Given the description of an element on the screen output the (x, y) to click on. 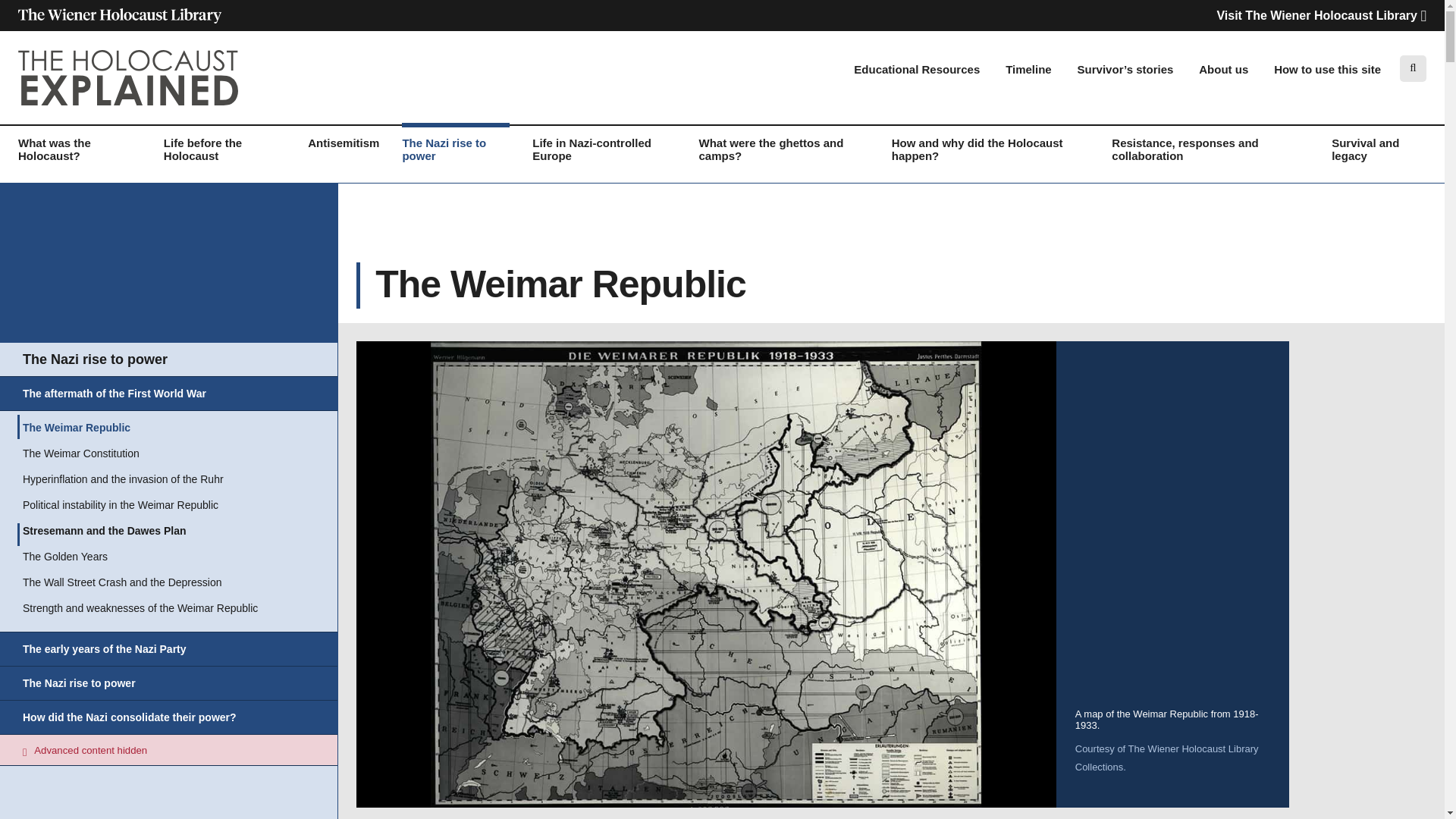
How and why did the Holocaust happen? (990, 154)
How to use this site (1327, 69)
The Nazi rise to power (455, 154)
Hyperinflation and the invasion of the Ruhr (123, 483)
Visit The Wiener Holocaust Library (1320, 15)
Survival and legacy (1379, 154)
About us (1222, 69)
Logo (127, 77)
The aftermath of the First World War (114, 397)
Life before the Holocaust (224, 154)
What were the ghettos and camps? (783, 154)
The Nazi rise to power (95, 363)
The Weimar Republic (77, 431)
Timeline (1028, 69)
Stresemann and the Dawes Plan (104, 534)
